Given the description of an element on the screen output the (x, y) to click on. 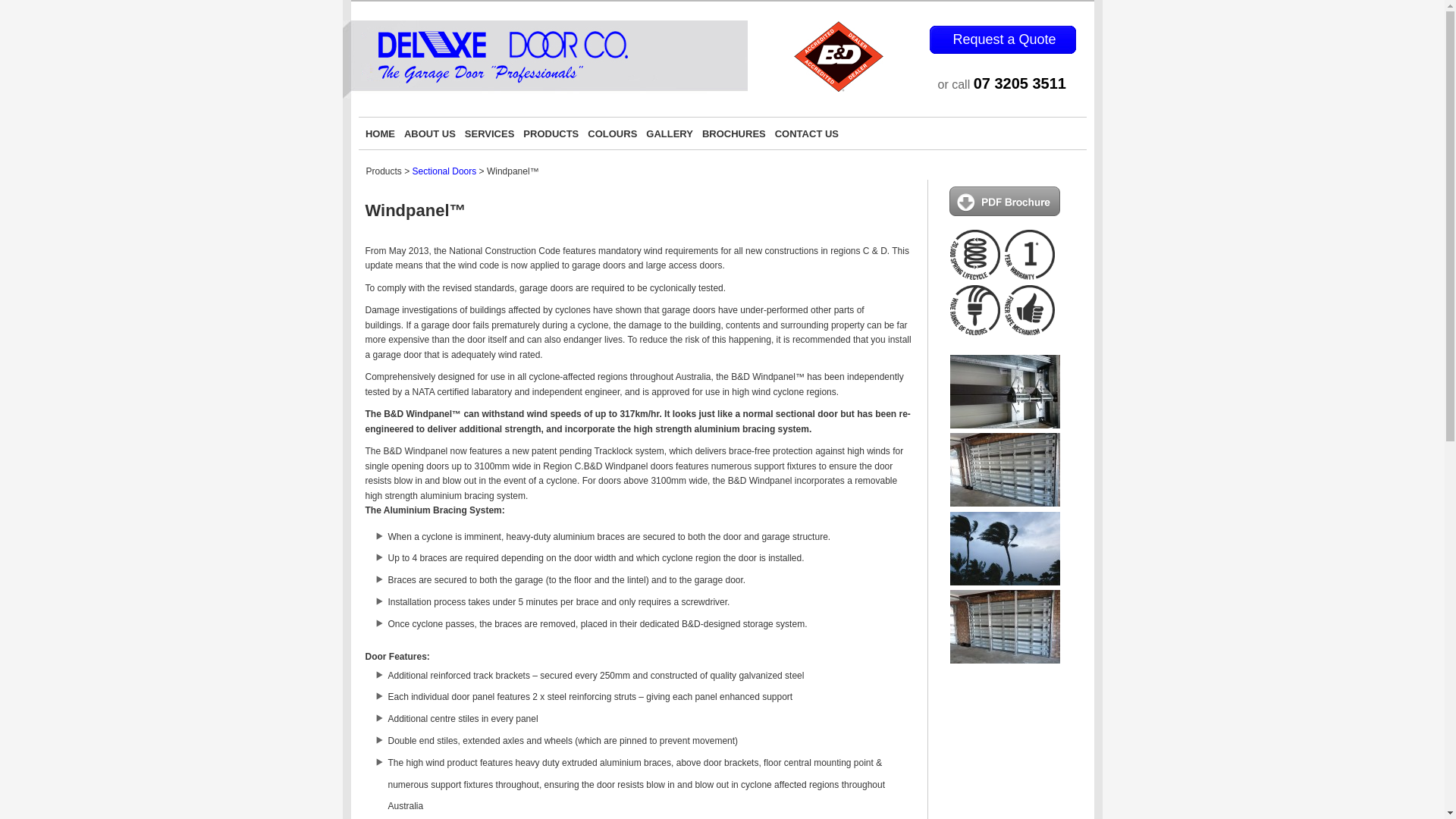
BROCHURES Element type: text (733, 133)
SERVICES Element type: text (489, 133)
COLOURS Element type: text (612, 133)
Sectional Doors Element type: text (444, 171)
GALLERY Element type: text (669, 133)
Deluxe Garage Doors Element type: hover (544, 89)
ABOUT US Element type: text (429, 133)
Request a Quote Element type: text (1003, 39)
range of colours Element type: hover (977, 331)
pinchfree Element type: hover (1031, 331)
CONTACT US Element type: text (806, 133)
1 year Warranty Element type: hover (1031, 276)
20000 spring lifecycle Element type: hover (977, 276)
07 3205 3511 Element type: text (1019, 83)
HOME Element type: text (380, 133)
PRODUCTS Element type: text (550, 133)
